Given the description of an element on the screen output the (x, y) to click on. 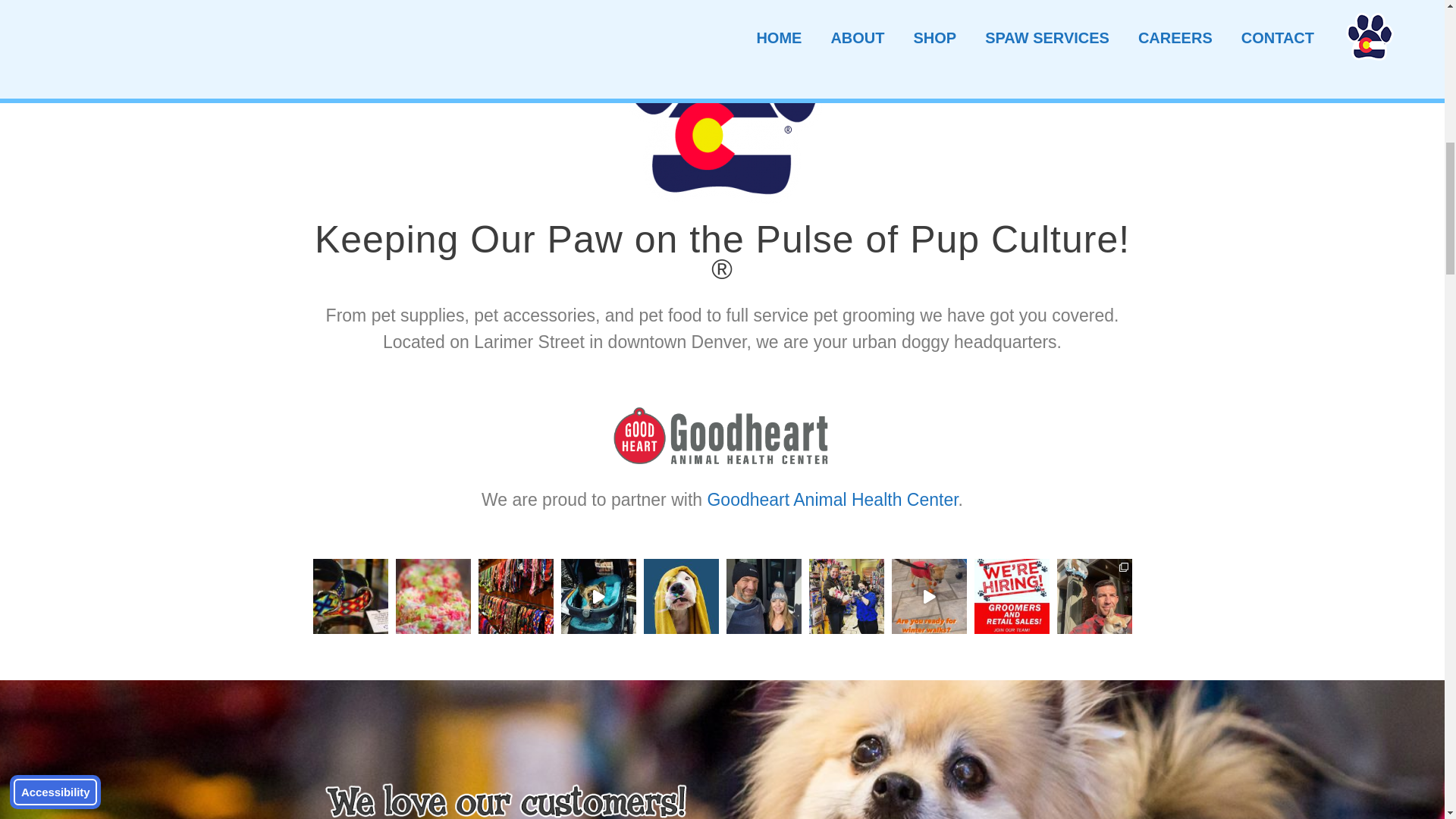
Goodheart Animal Health Center (832, 499)
